Given the description of an element on the screen output the (x, y) to click on. 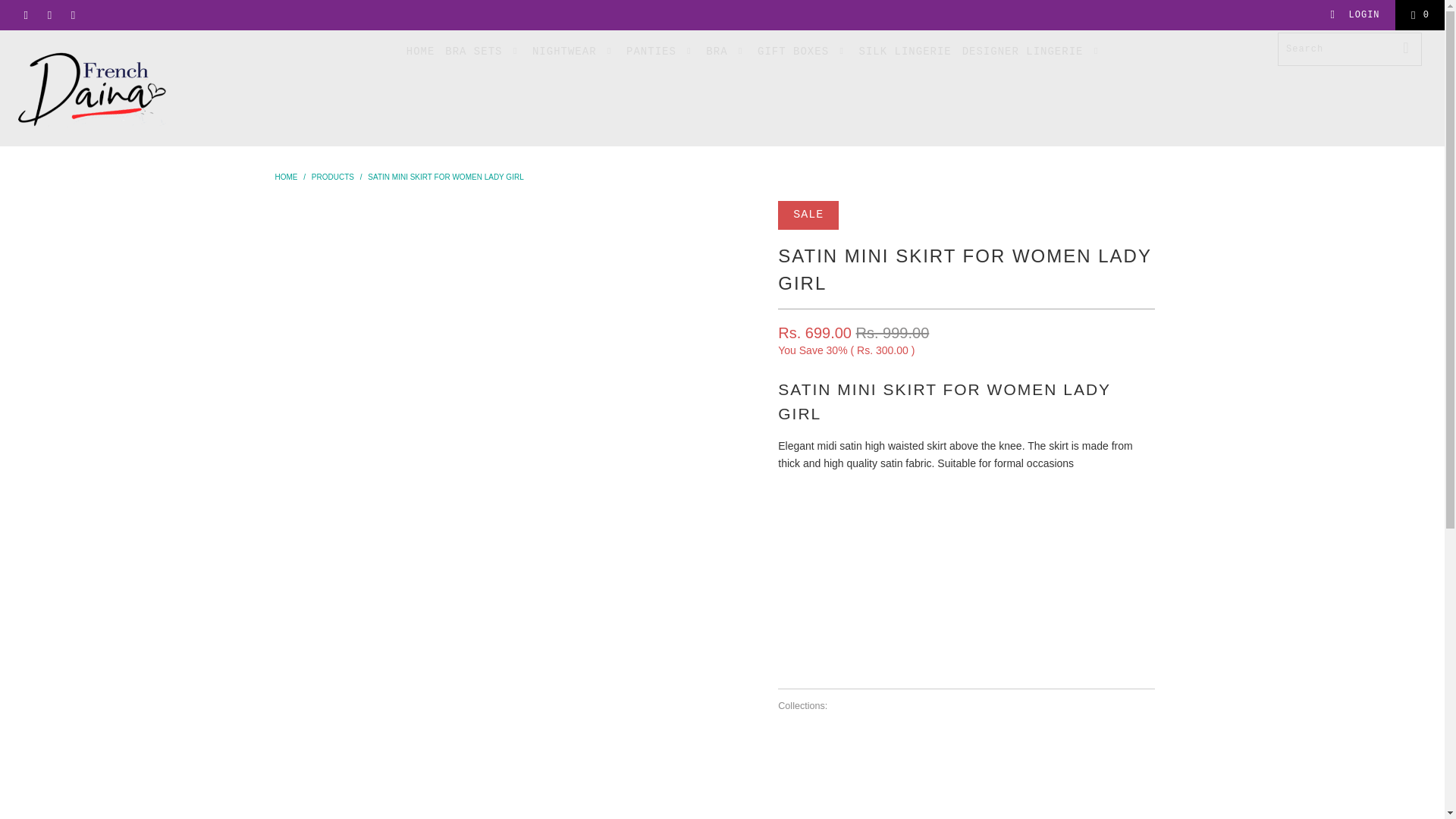
French Daina (122, 88)
French Daina (286, 176)
My Account  (1353, 15)
French Daina on Pinterest (25, 14)
French Daina on Tumblr (48, 14)
Products (332, 176)
French Daina on Instagram (71, 14)
